Given the description of an element on the screen output the (x, y) to click on. 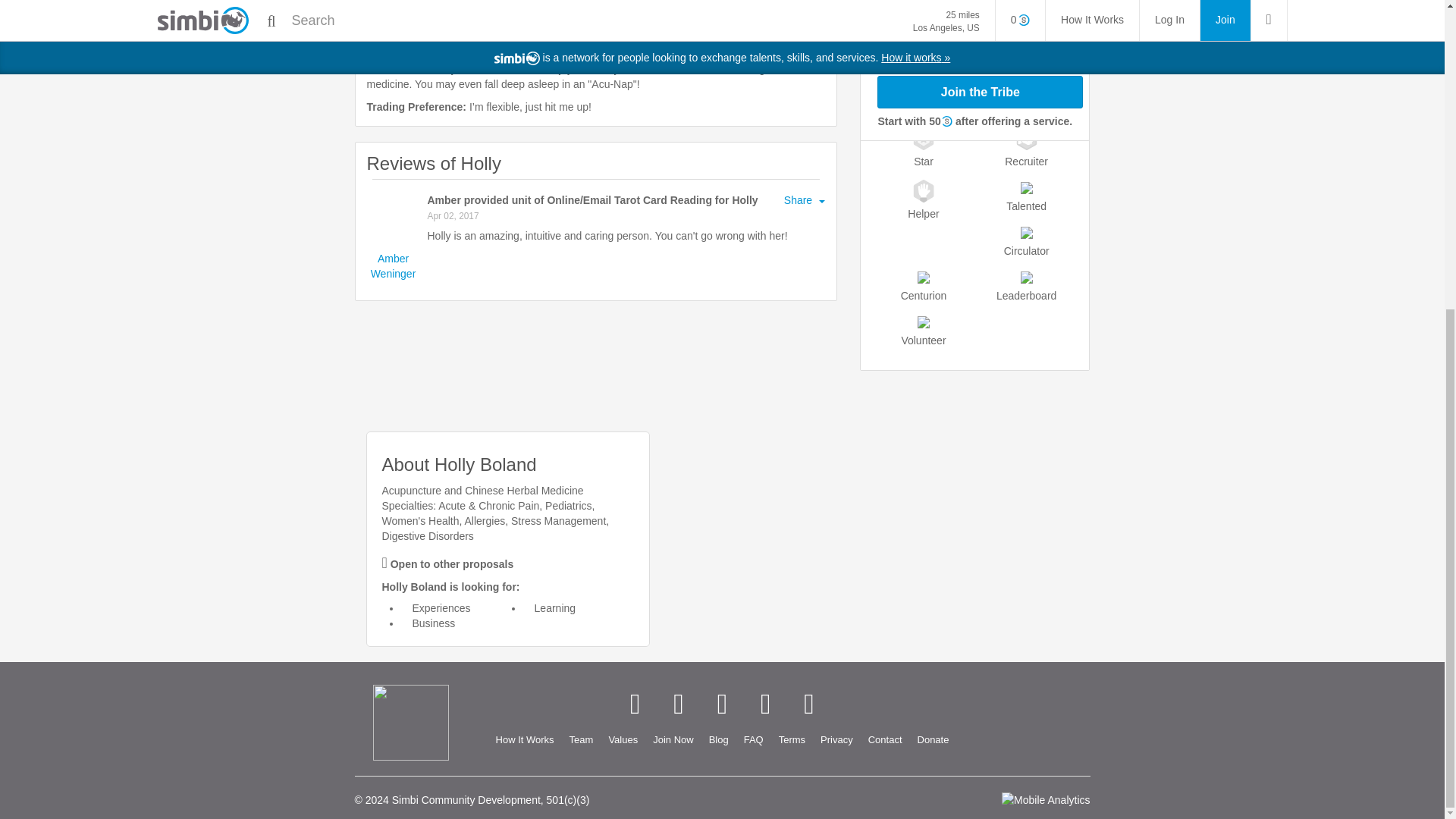
FAQ (753, 740)
Terms (791, 740)
Blog (718, 740)
Instagram (765, 704)
Join (672, 740)
Contact (885, 740)
Email (808, 704)
Facebook (634, 704)
Values (622, 740)
Twitter (678, 704)
